Given the description of an element on the screen output the (x, y) to click on. 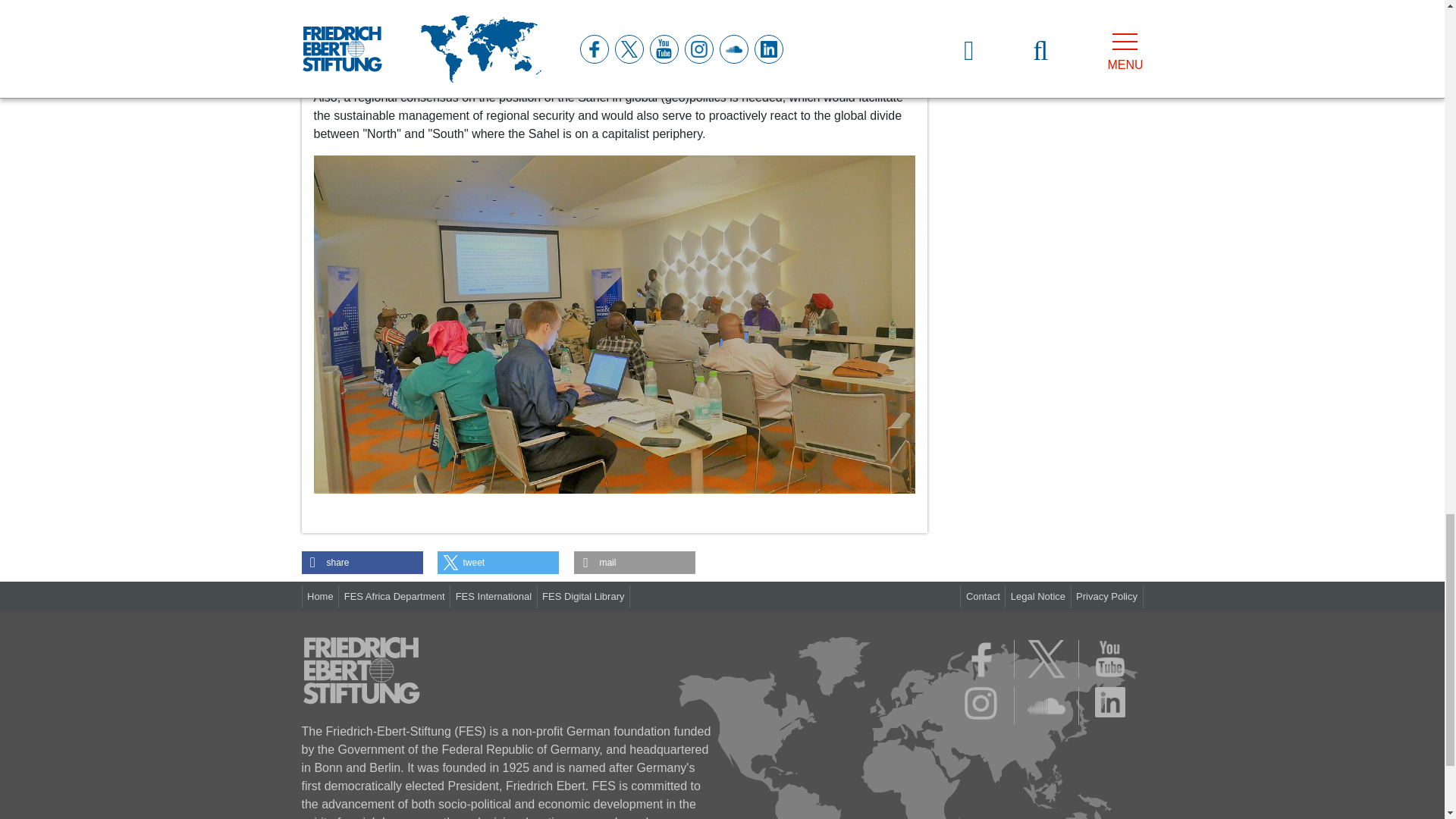
Share on Twitter (498, 562)
Send by email (634, 562)
Share on Facebook (362, 562)
